Given the description of an element on the screen output the (x, y) to click on. 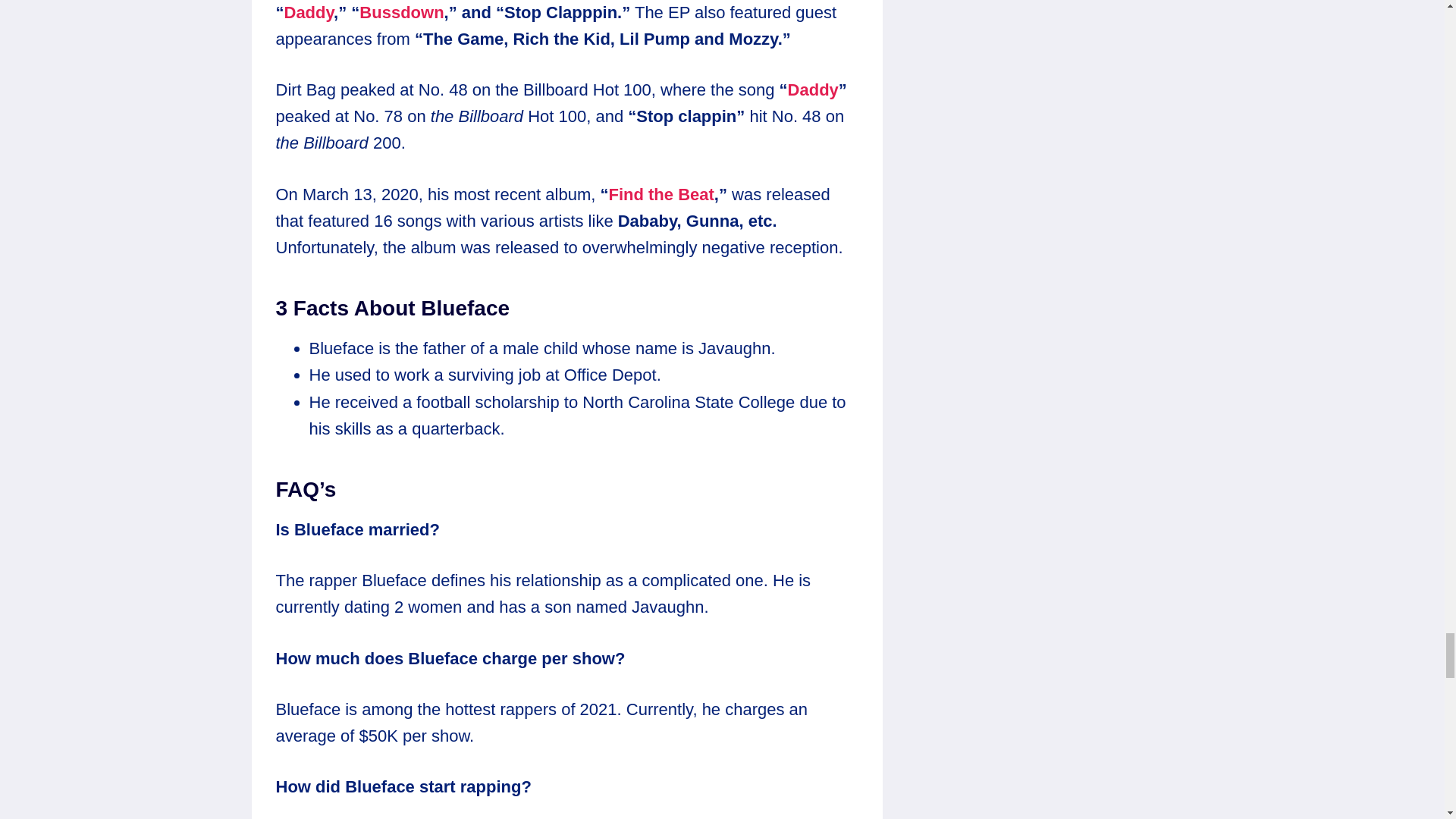
Daddy (812, 89)
Daddy (308, 12)
Find the Beat (660, 194)
Bussdown (401, 12)
